Given the description of an element on the screen output the (x, y) to click on. 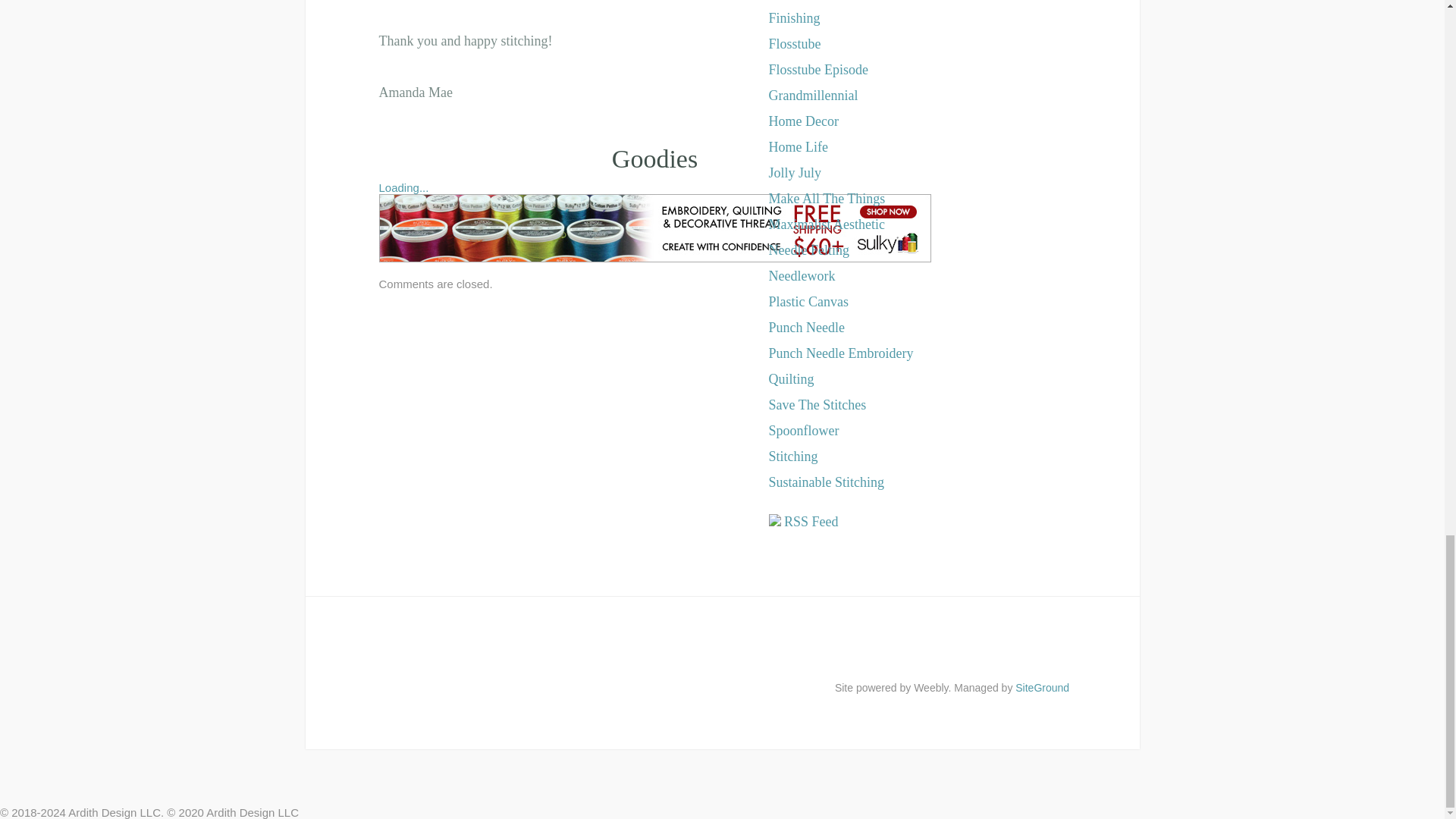
Loading... (403, 187)
